Given the description of an element on the screen output the (x, y) to click on. 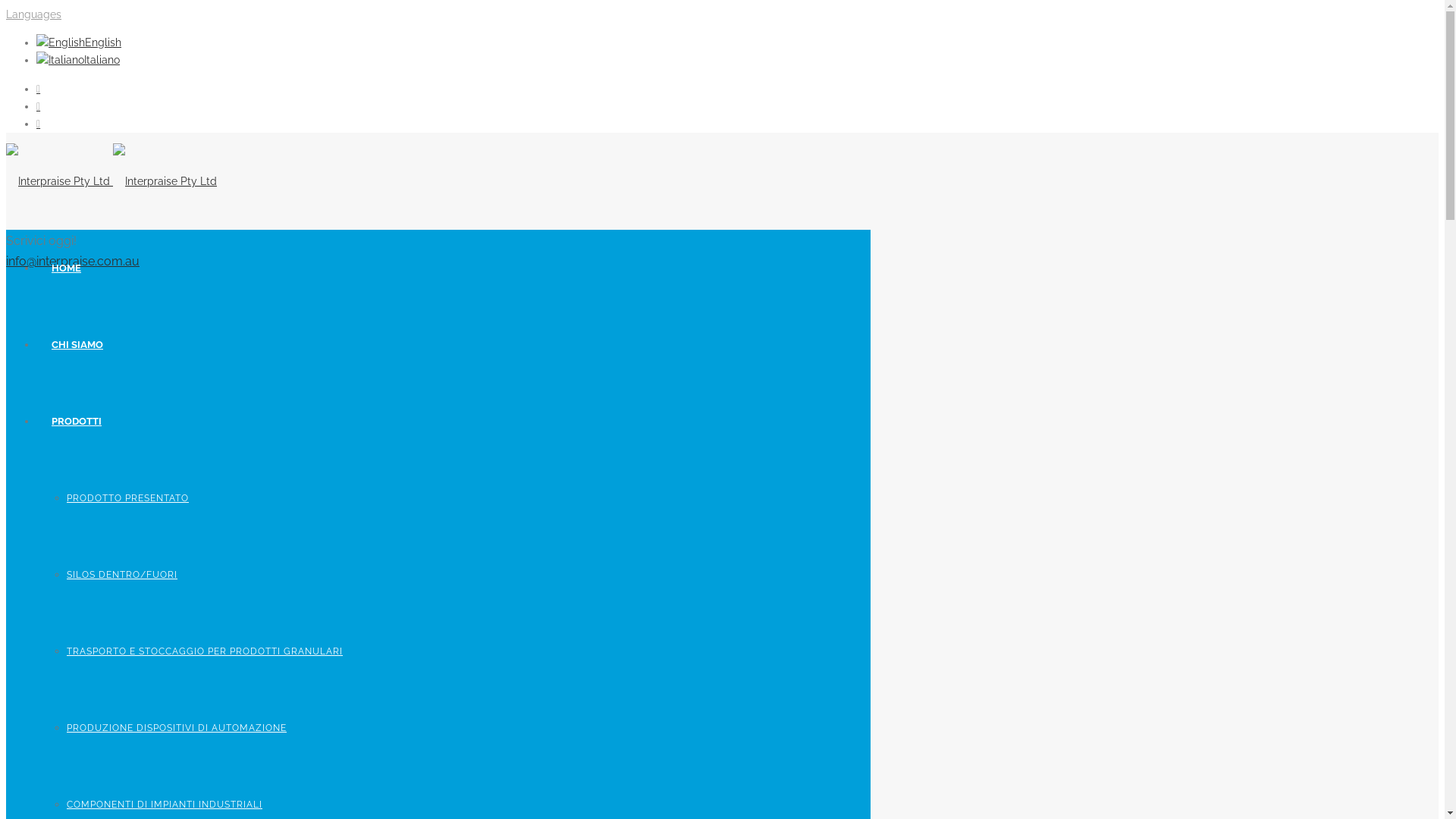
info@interpraise.com.au Element type: text (72, 261)
googleplus Element type: hover (38, 88)
PRODUZIONE DISPOSITIVI DI AUTOMAZIONE Element type: text (176, 727)
COMPONENTI DI IMPIANTI INDUSTRIALI Element type: text (164, 804)
English Element type: text (78, 42)
TRASPORTO E STOCCAGGIO PER PRODOTTI GRANULARI Element type: text (204, 651)
Interpraise Pty Ltd Element type: hover (111, 181)
PRODOTTI Element type: text (76, 420)
HOME Element type: text (66, 267)
Italiano Element type: text (77, 59)
twitter Element type: hover (38, 123)
PRODOTTO PRESENTATO Element type: text (127, 497)
Languages Element type: text (33, 14)
English Element type: hover (60, 42)
Italiano Element type: hover (60, 60)
linkedin Element type: hover (38, 106)
CHI SIAMO Element type: text (77, 344)
SILOS DENTRO/FUORI Element type: text (121, 574)
